Given the description of an element on the screen output the (x, y) to click on. 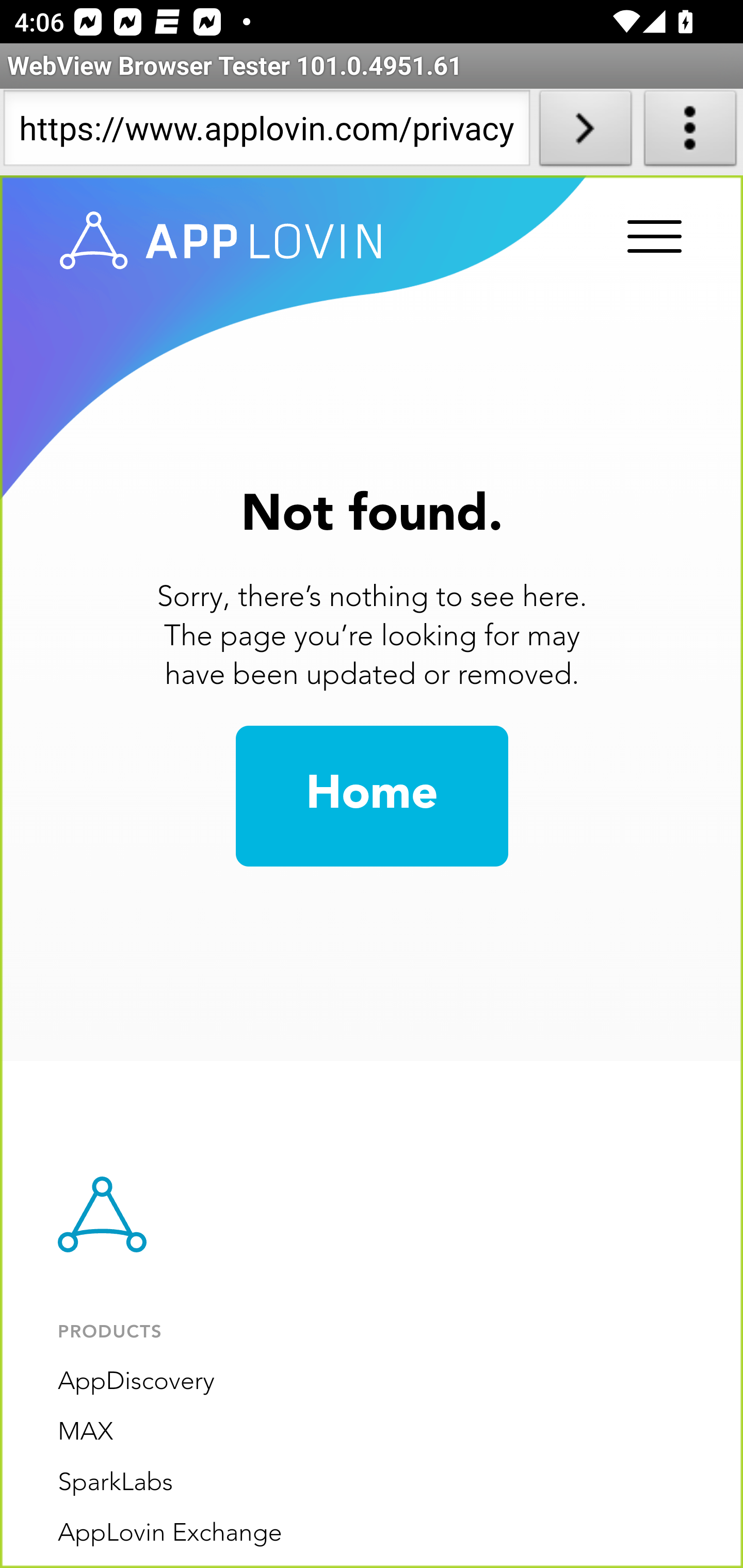
Load URL (585, 132)
About WebView (690, 132)
Menu Trigger (650, 237)
www.applovin (220, 241)
Home (371, 796)
AppDiscovery (135, 1381)
MAX (85, 1432)
SparkLabs (115, 1483)
AppLovin Exchange (170, 1533)
